Given the description of an element on the screen output the (x, y) to click on. 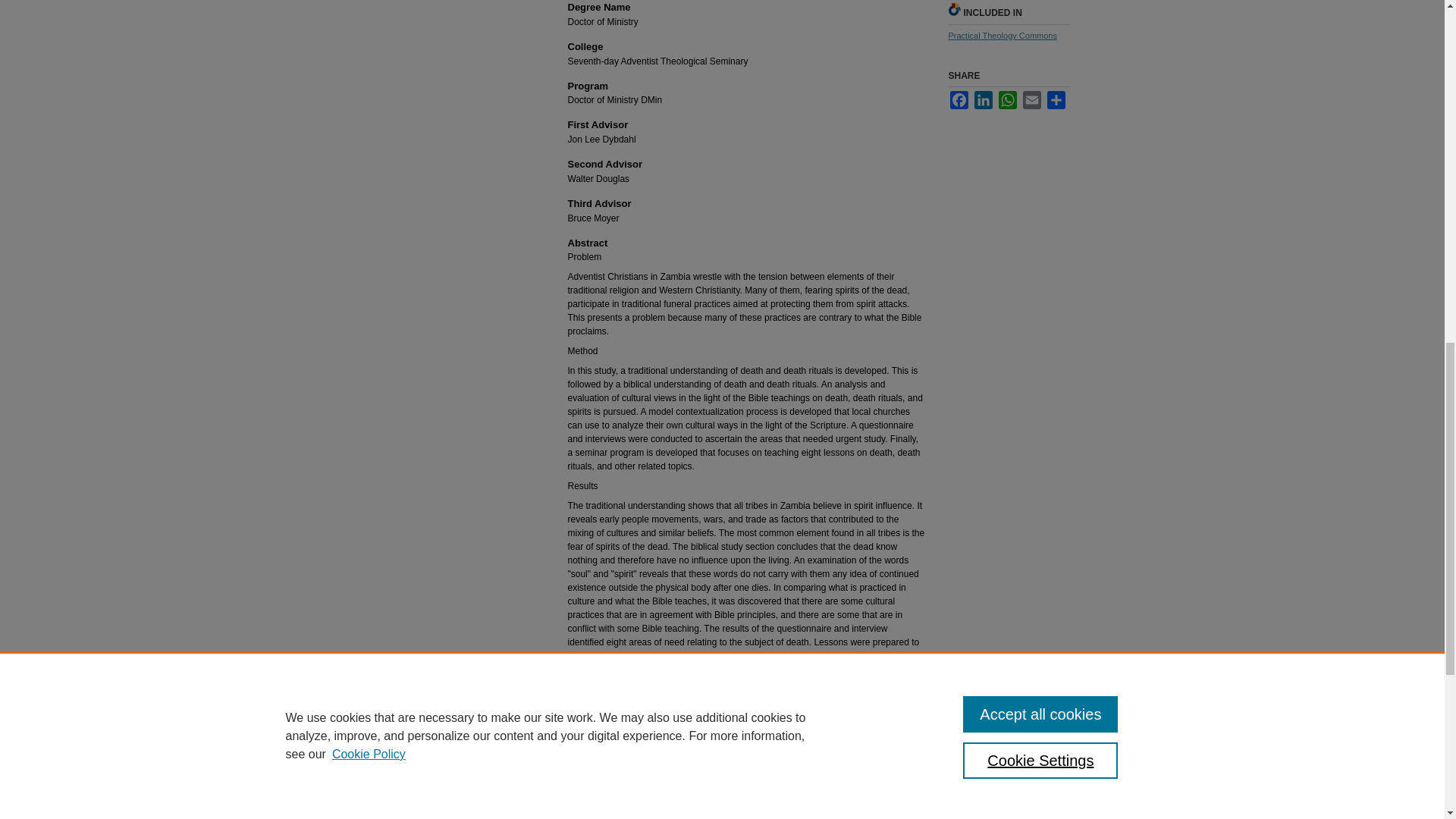
Practical Theology Commons (1002, 35)
Practical Theology Commons (1002, 35)
Facebook (958, 99)
